Given the description of an element on the screen output the (x, y) to click on. 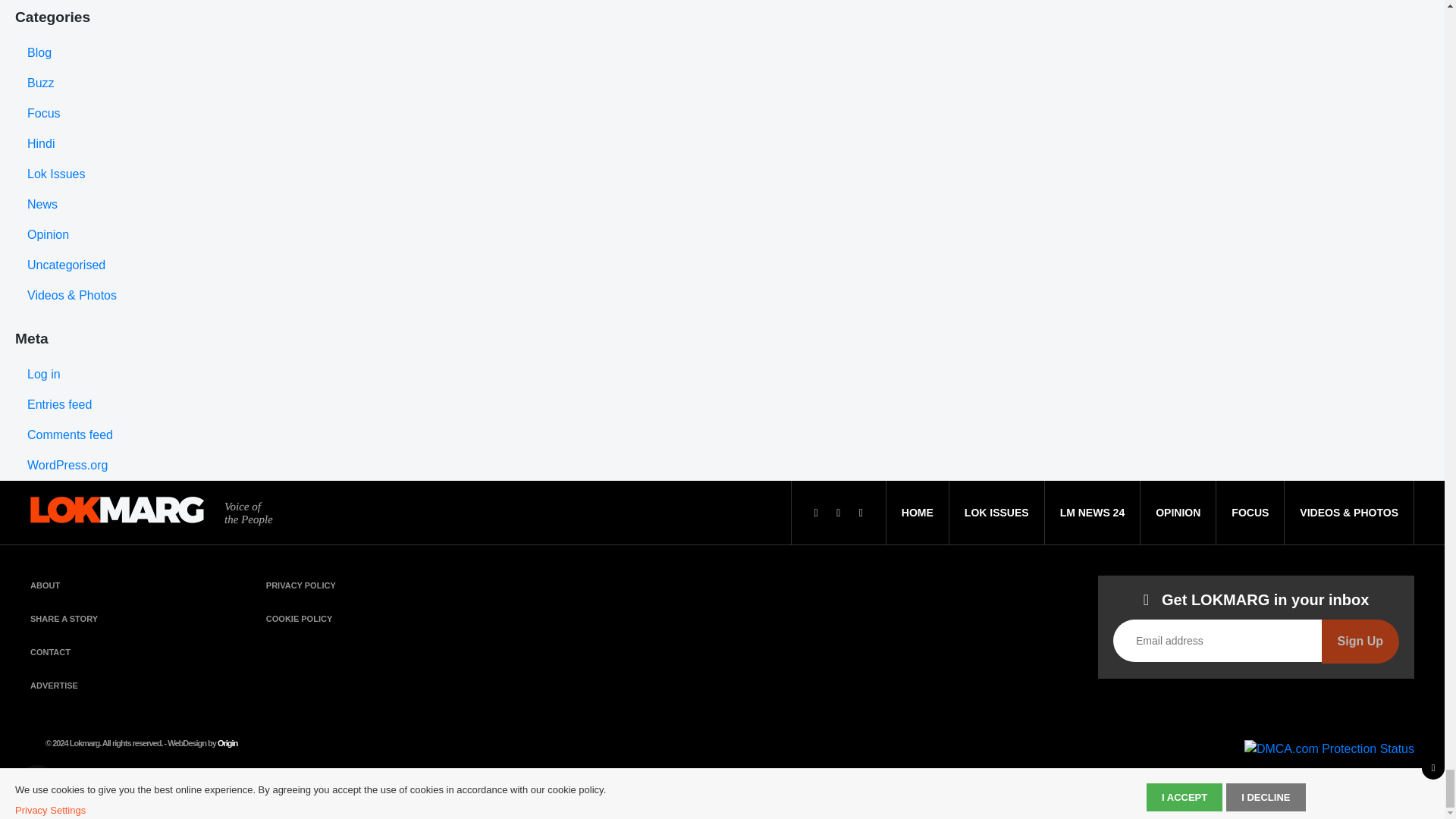
DMCA.com Protection Status (1328, 748)
Sign Up (1360, 641)
